Given the description of an element on the screen output the (x, y) to click on. 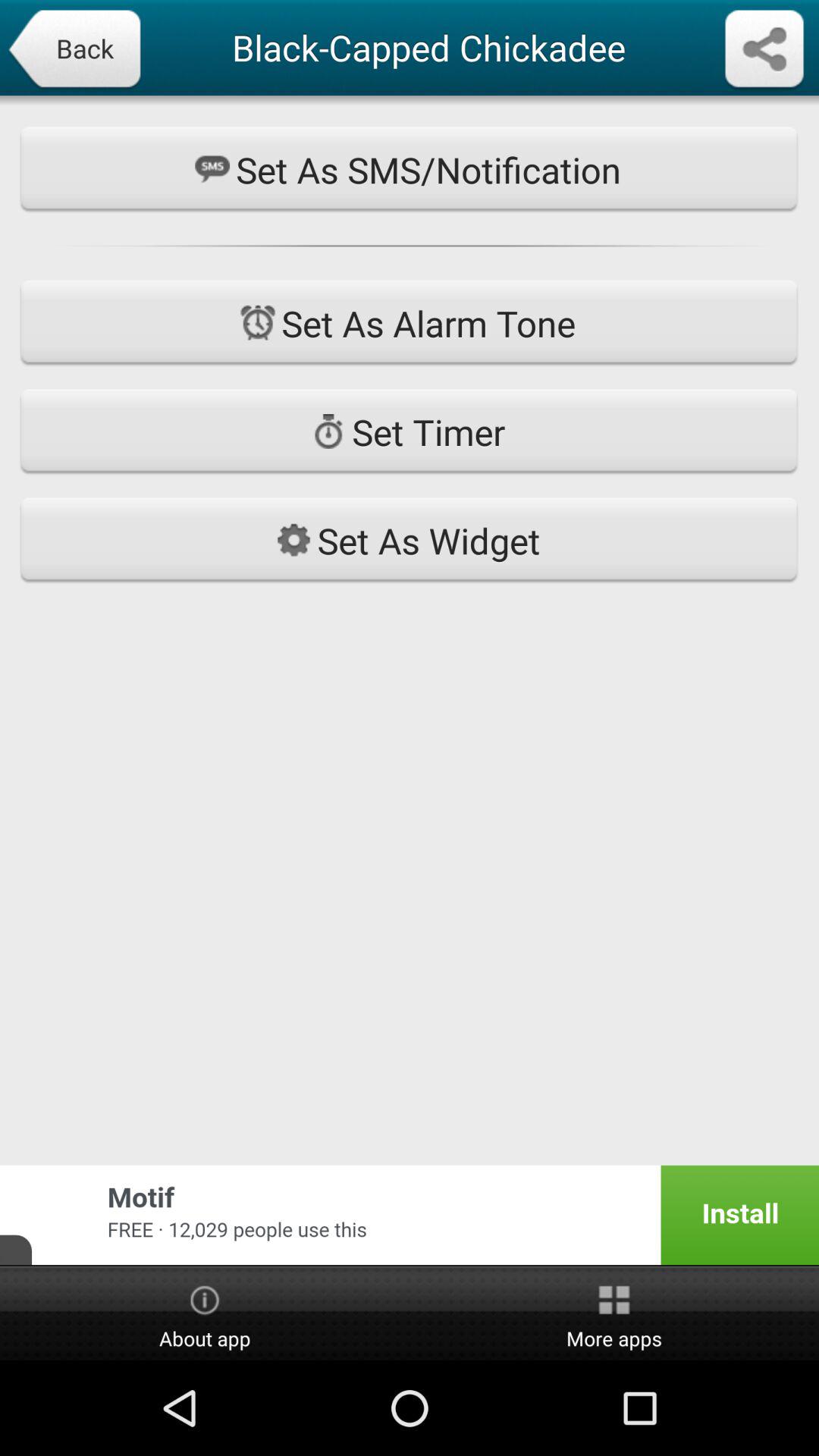
swipe to the more apps item (614, 1314)
